Given the description of an element on the screen output the (x, y) to click on. 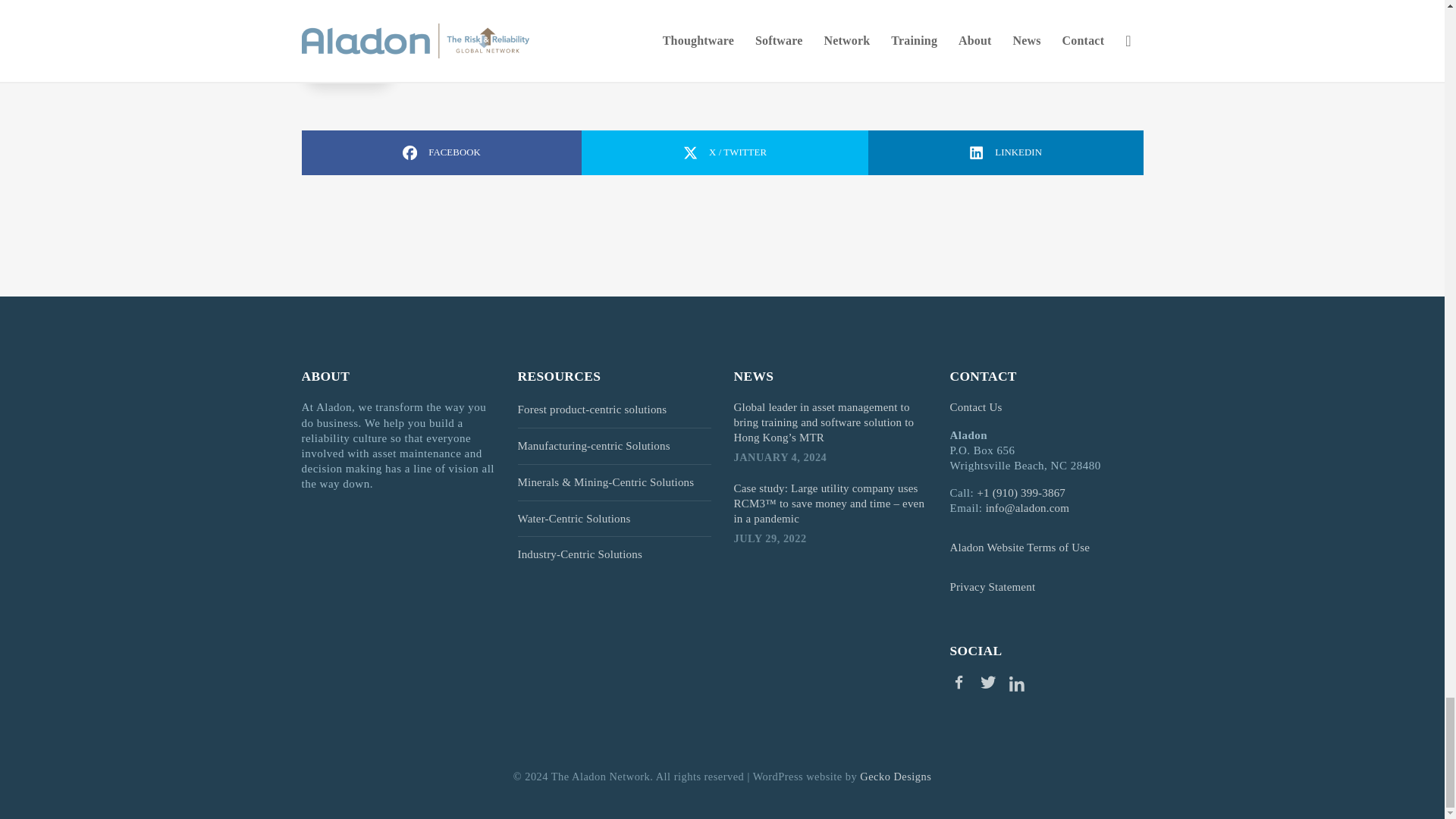
Share page on Facebook (441, 152)
Share page on LinkedIn (1004, 152)
